Given the description of an element on the screen output the (x, y) to click on. 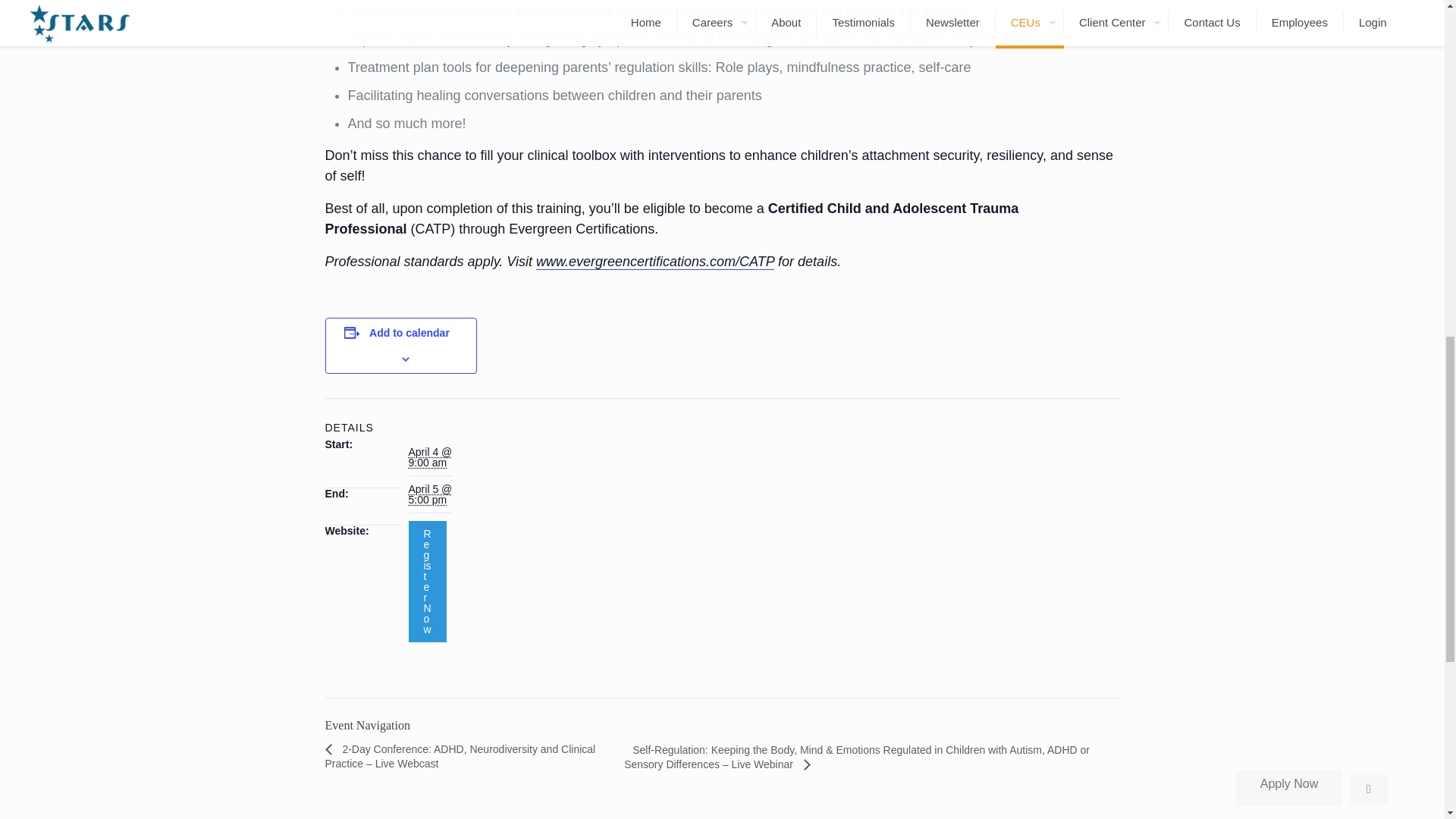
2024-04-05 (429, 494)
Add to calendar (409, 332)
2024-04-04 (429, 456)
